Given the description of an element on the screen output the (x, y) to click on. 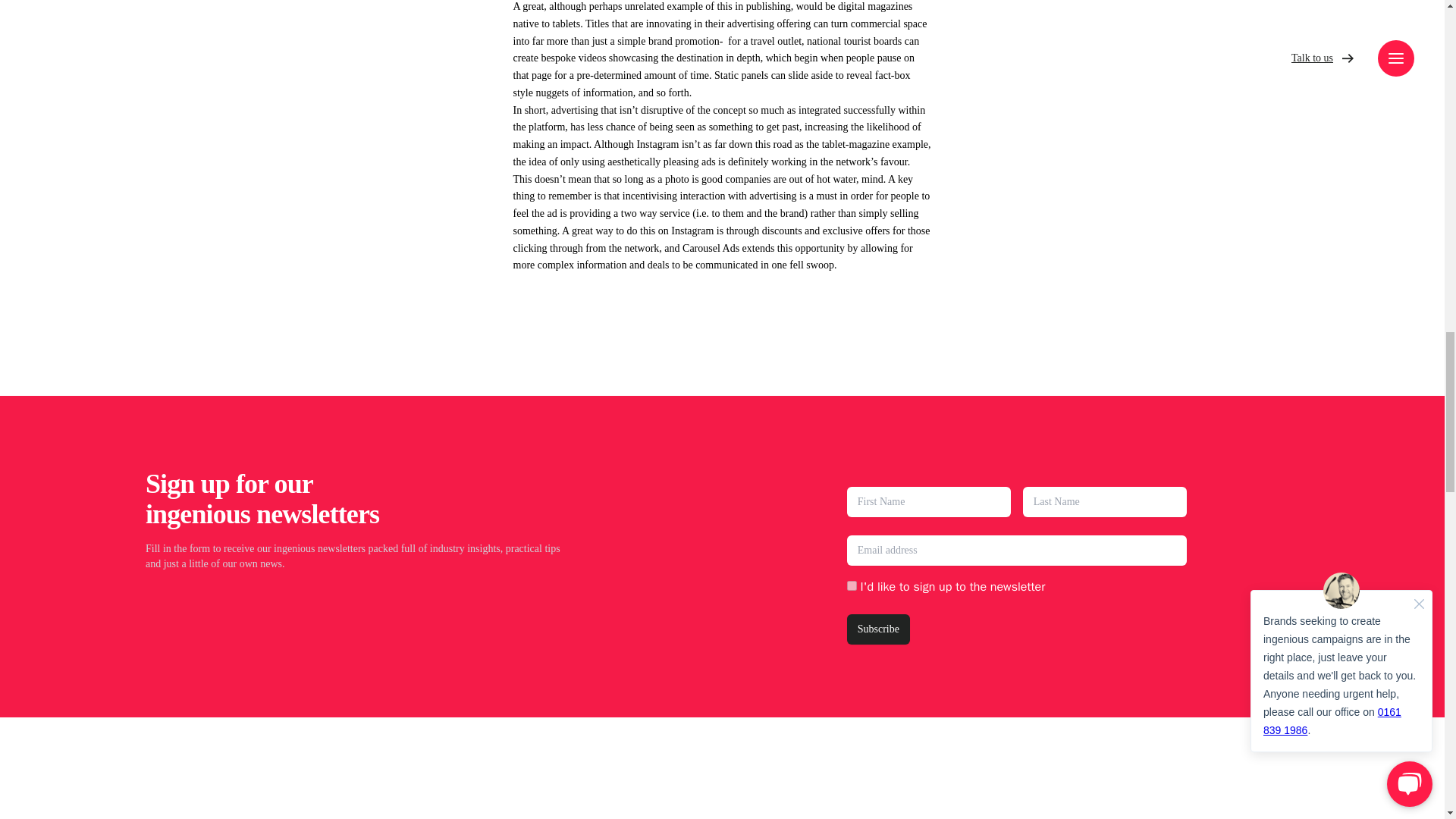
Subscribe (878, 629)
I'd like to sign up to the newsletter (852, 585)
